Given the description of an element on the screen output the (x, y) to click on. 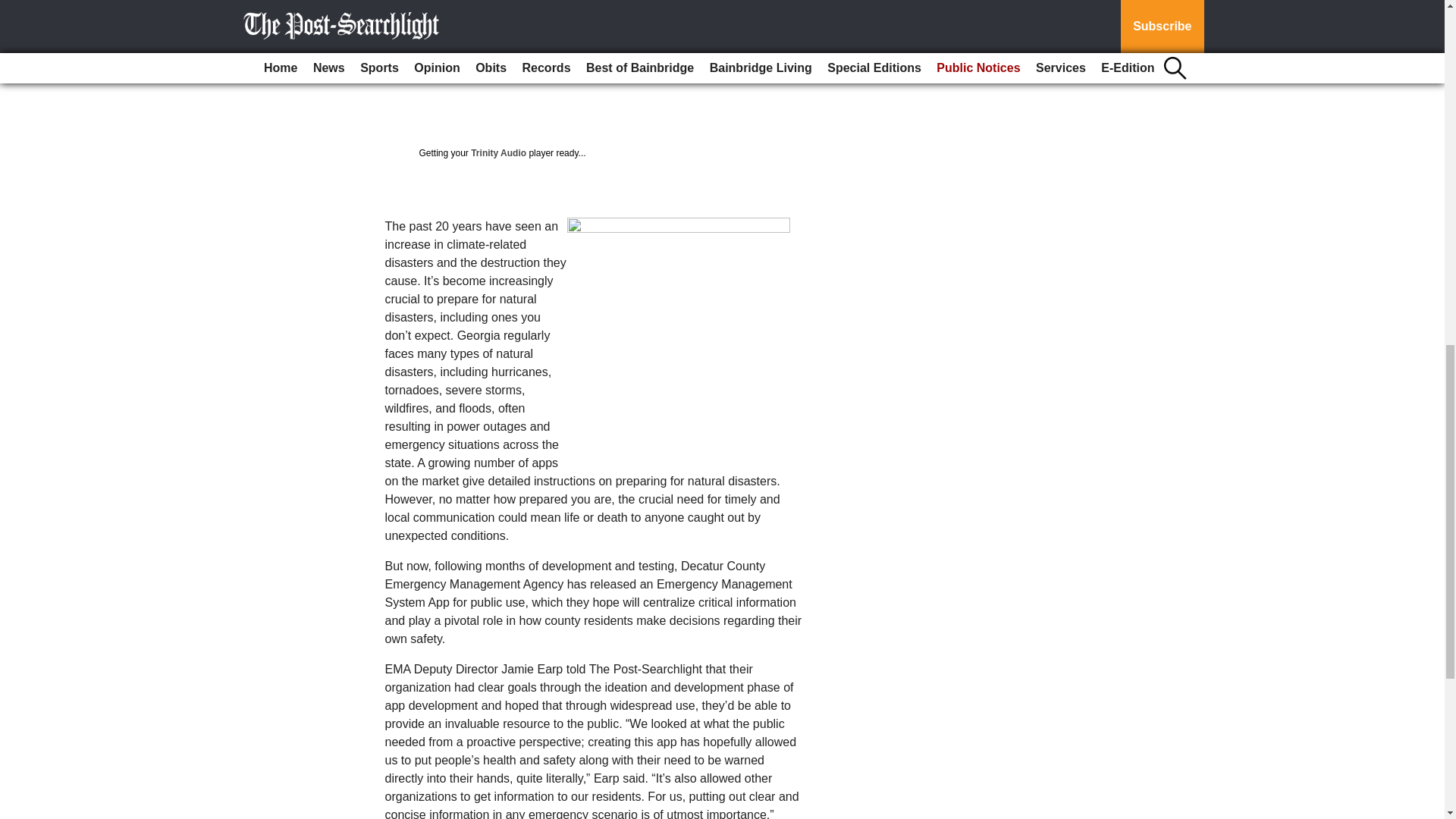
Trinity Audio (497, 153)
